Given the description of an element on the screen output the (x, y) to click on. 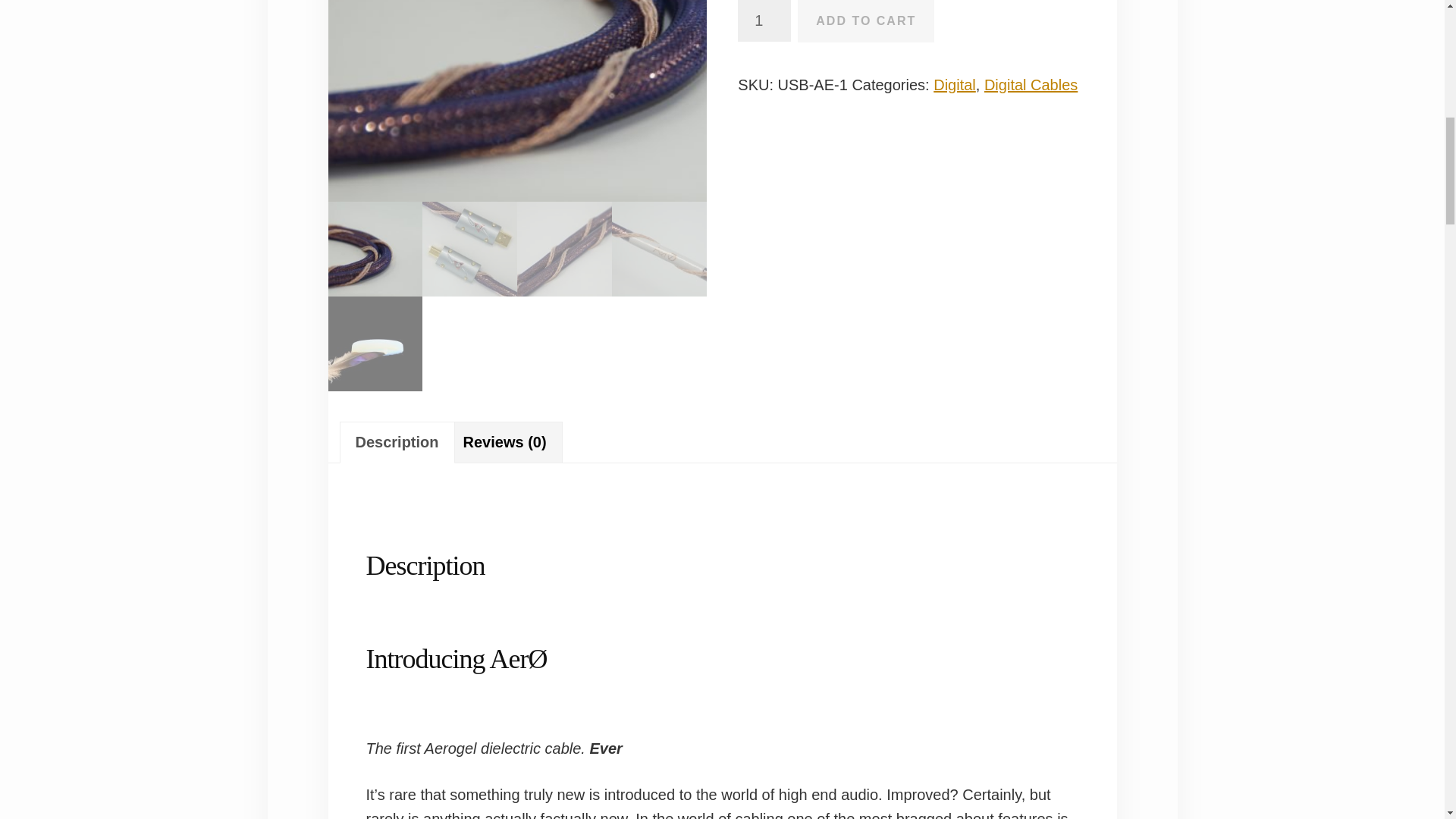
Digital (954, 84)
1 (764, 20)
Digital Cables (1030, 84)
ADD TO CART (865, 21)
Description (395, 442)
